Given the description of an element on the screen output the (x, y) to click on. 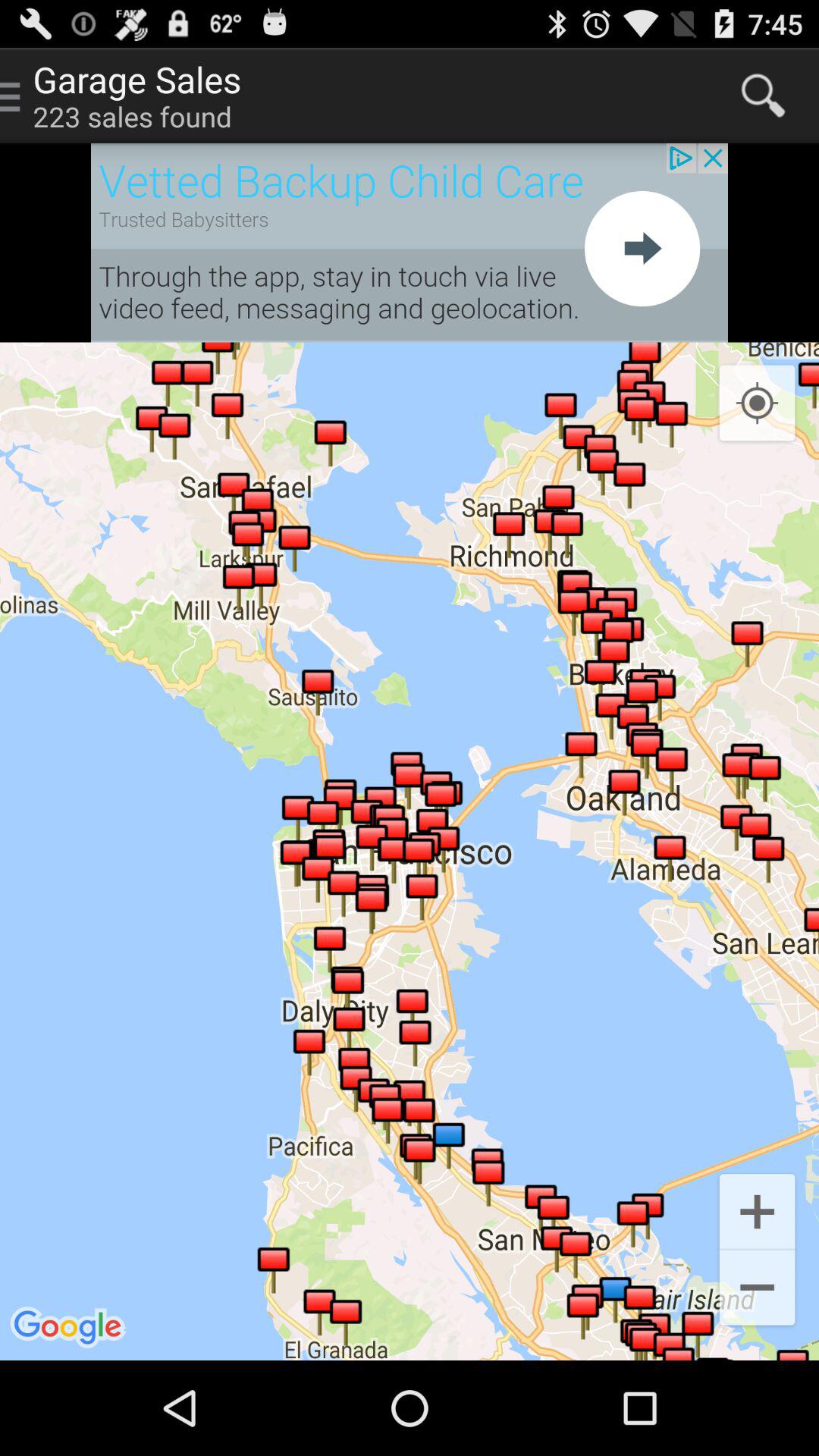
search key (763, 95)
